Given the description of an element on the screen output the (x, y) to click on. 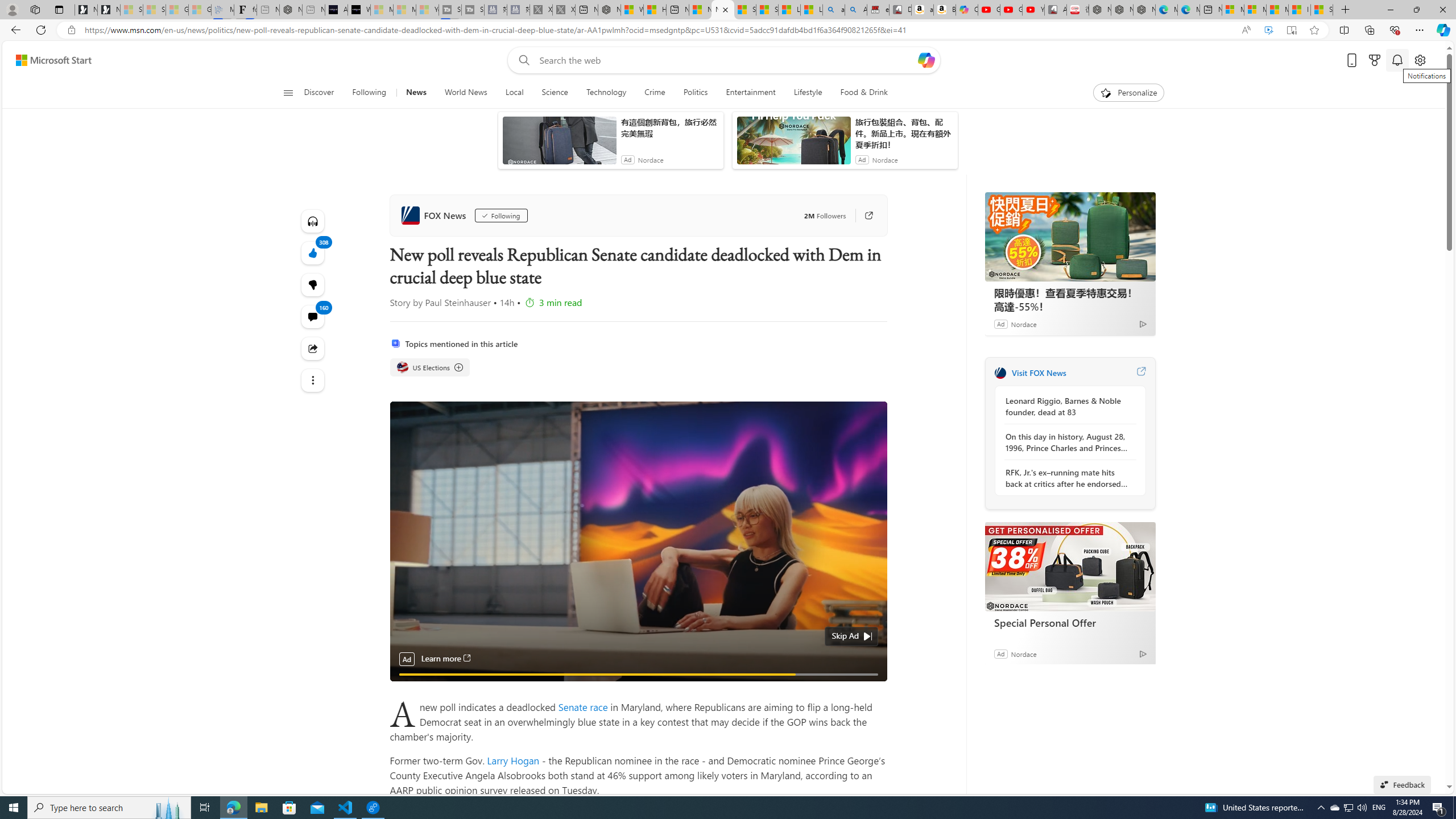
News (416, 92)
To get missing image descriptions, open the context menu. (1105, 92)
Nordace - Nordace has arrived Hong Kong (1144, 9)
Skip Ad (845, 635)
AI Voice Changer for PC and Mac - Voice.ai (336, 9)
Microsoft Start Sports - Sleeping (381, 9)
Share this story (312, 348)
Class: button-glyph (287, 92)
See more (312, 380)
Leonard Riggio, Barnes & Noble founder, dead at 83 (1066, 406)
